Given the description of an element on the screen output the (x, y) to click on. 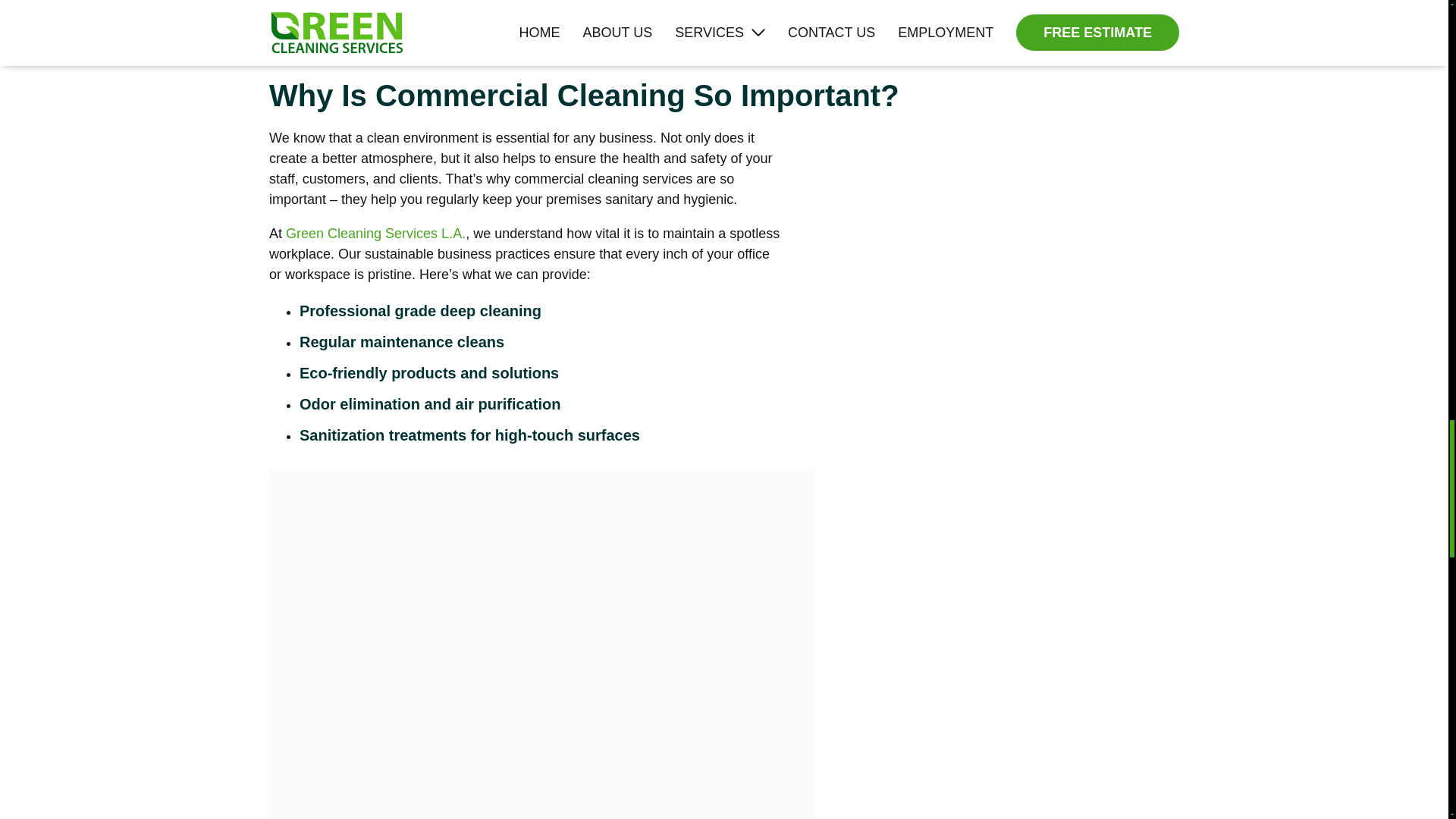
Green Cleaning Services L.A. (375, 233)
